Given the description of an element on the screen output the (x, y) to click on. 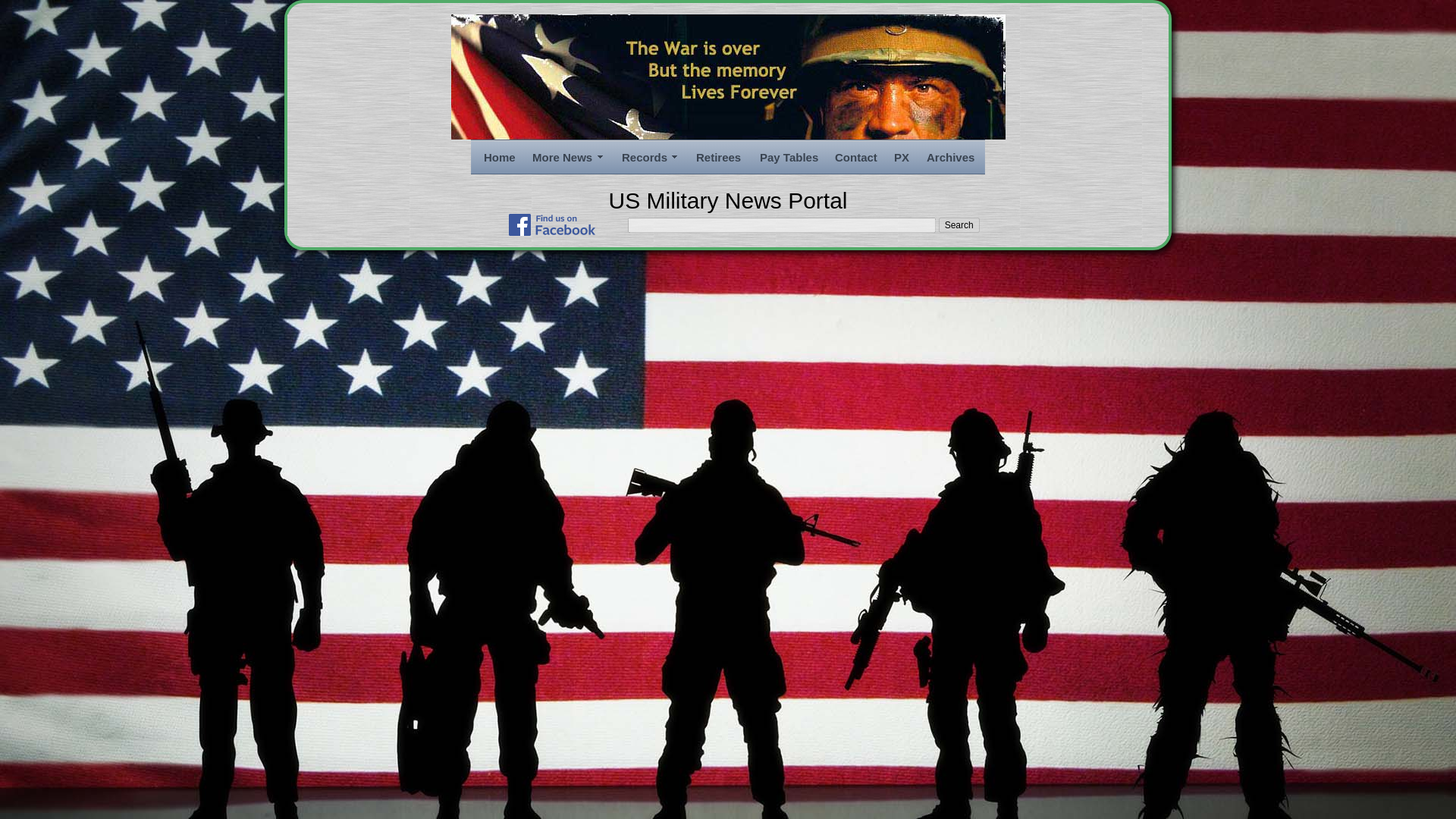
Retirees (718, 157)
Records (648, 157)
Pay Tables (788, 157)
Search (959, 224)
More News (566, 157)
Contact (854, 157)
PX (901, 157)
Home (498, 157)
Archives (949, 157)
